Given the description of an element on the screen output the (x, y) to click on. 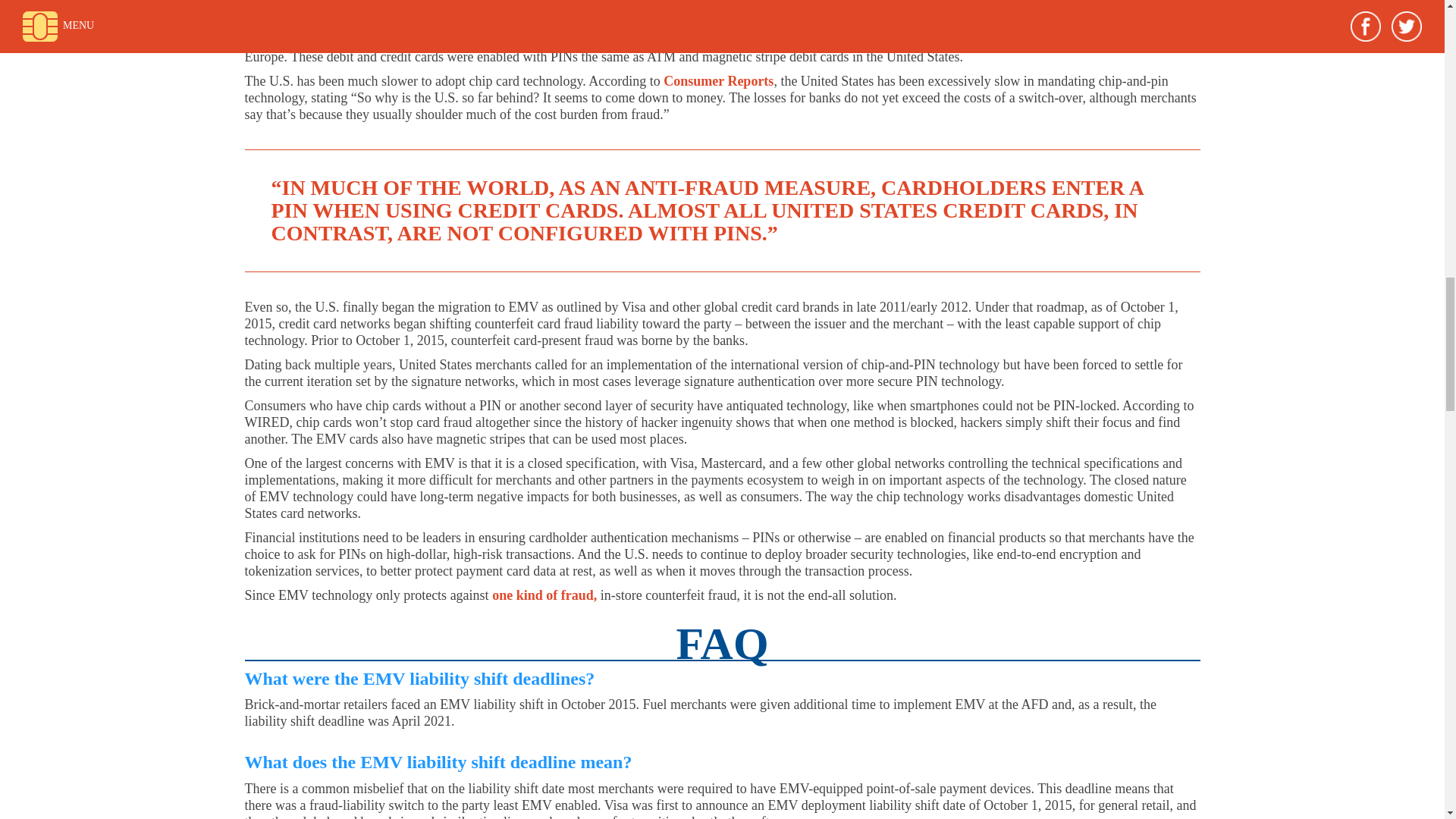
one kind of fraud, (544, 595)
Consumer Reports (718, 80)
